Given the description of an element on the screen output the (x, y) to click on. 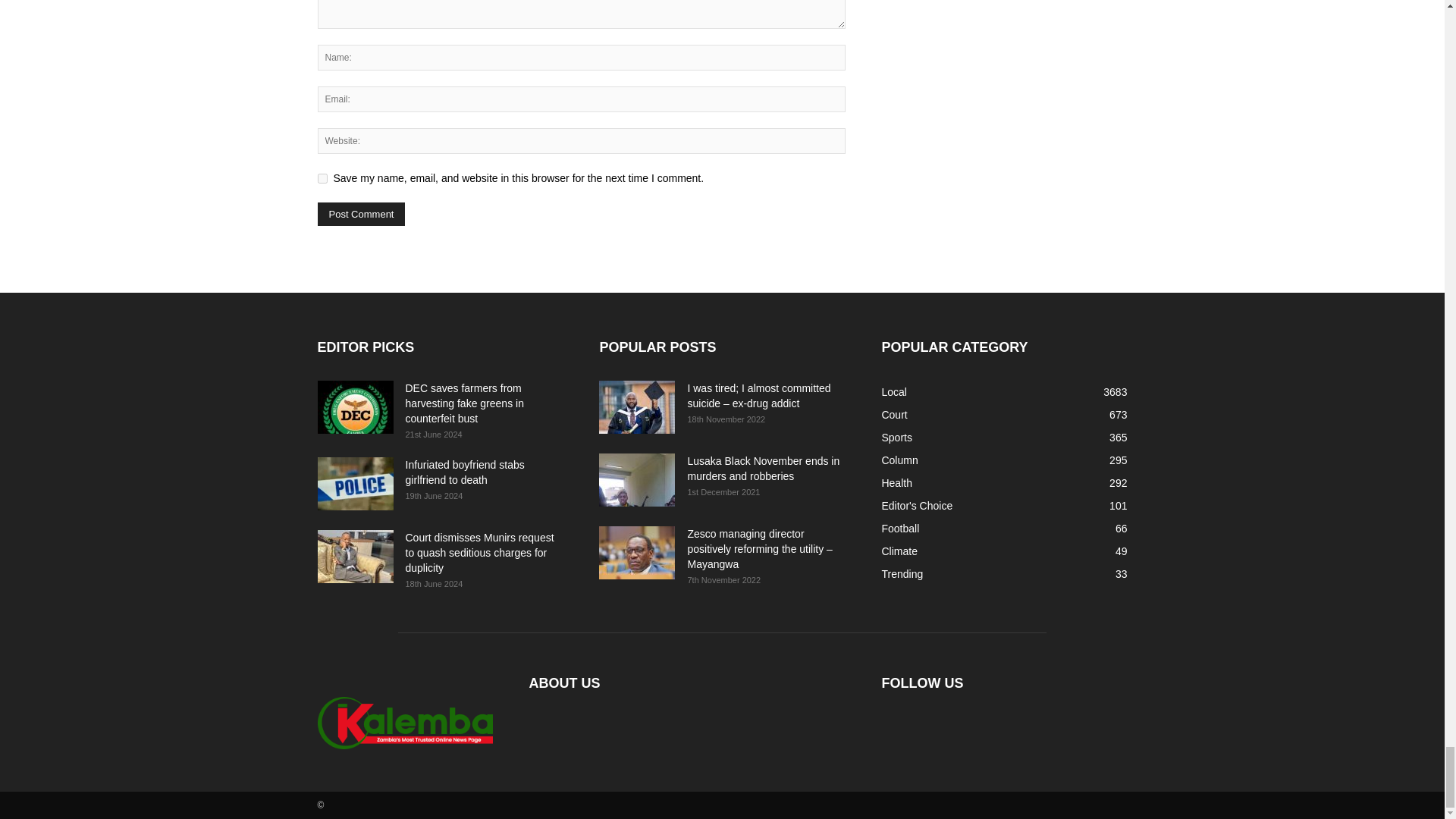
yes (321, 178)
Post Comment (360, 214)
